Given the description of an element on the screen output the (x, y) to click on. 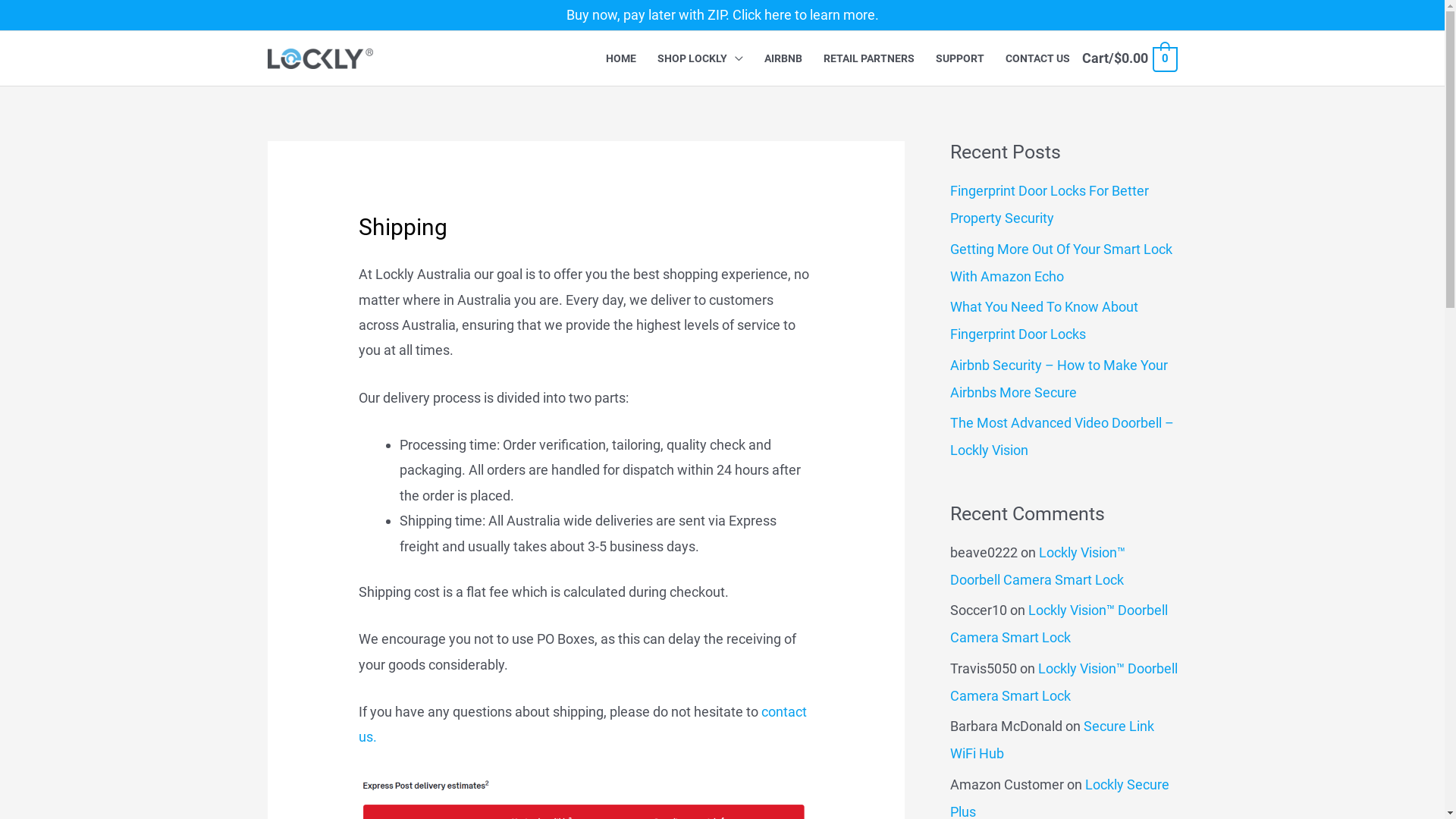
RETAIL PARTNERS Element type: text (868, 58)
AIRBNB Element type: text (782, 58)
Fingerprint Door Locks For Better Property Security Element type: text (1048, 203)
HOME Element type: text (620, 58)
Cart/$0.00 0 Element type: text (1128, 57)
Buy now, pay later with ZIP. Click here to learn more. Element type: text (721, 14)
SUPPORT Element type: text (959, 58)
Secure Link WiFi Hub Element type: text (1051, 739)
CONTACT US Element type: text (1037, 58)
contact us. Element type: text (582, 723)
Getting More Out Of Your Smart Lock With Amazon Echo Element type: text (1060, 262)
SHOP LOCKLY Element type: text (699, 58)
What You Need To Know About Fingerprint Door Locks Element type: text (1043, 320)
